Given the description of an element on the screen output the (x, y) to click on. 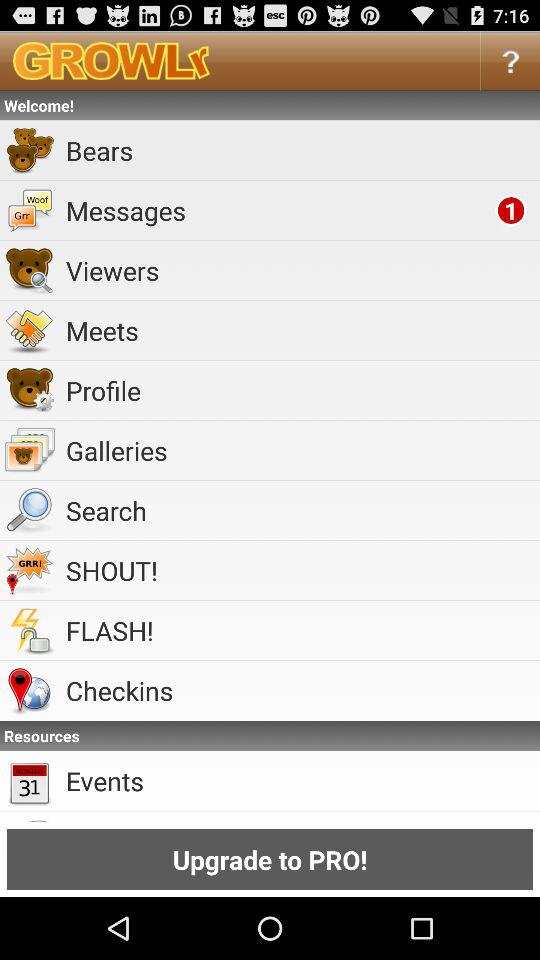
flip until checkins (299, 690)
